Given the description of an element on the screen output the (x, y) to click on. 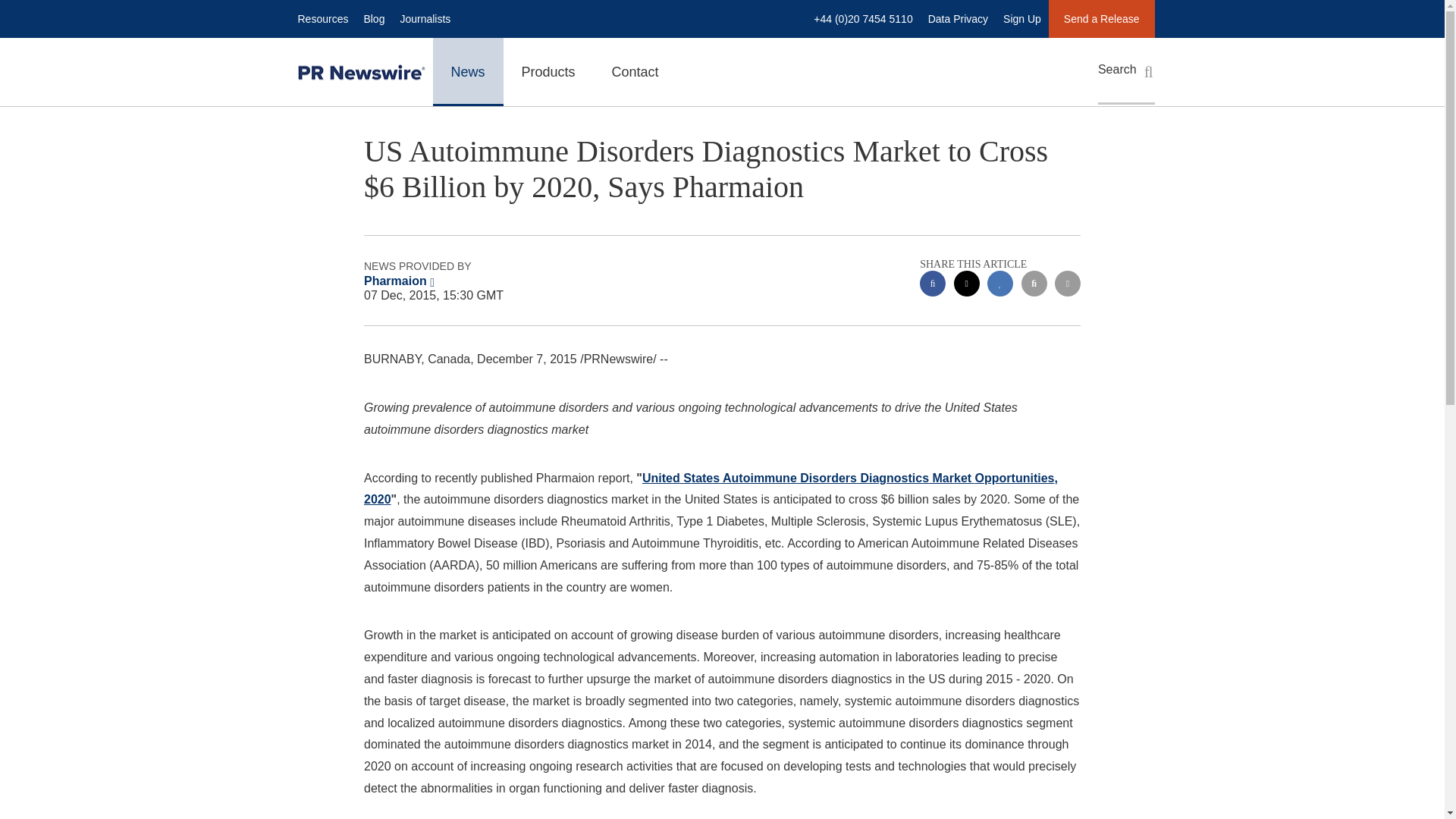
Products (548, 71)
Blog (373, 18)
Journalists (424, 18)
Resources (322, 18)
Send a Release (1101, 18)
Contact (635, 71)
Sign Up (1021, 18)
News (467, 71)
Data Privacy (957, 18)
